Given the description of an element on the screen output the (x, y) to click on. 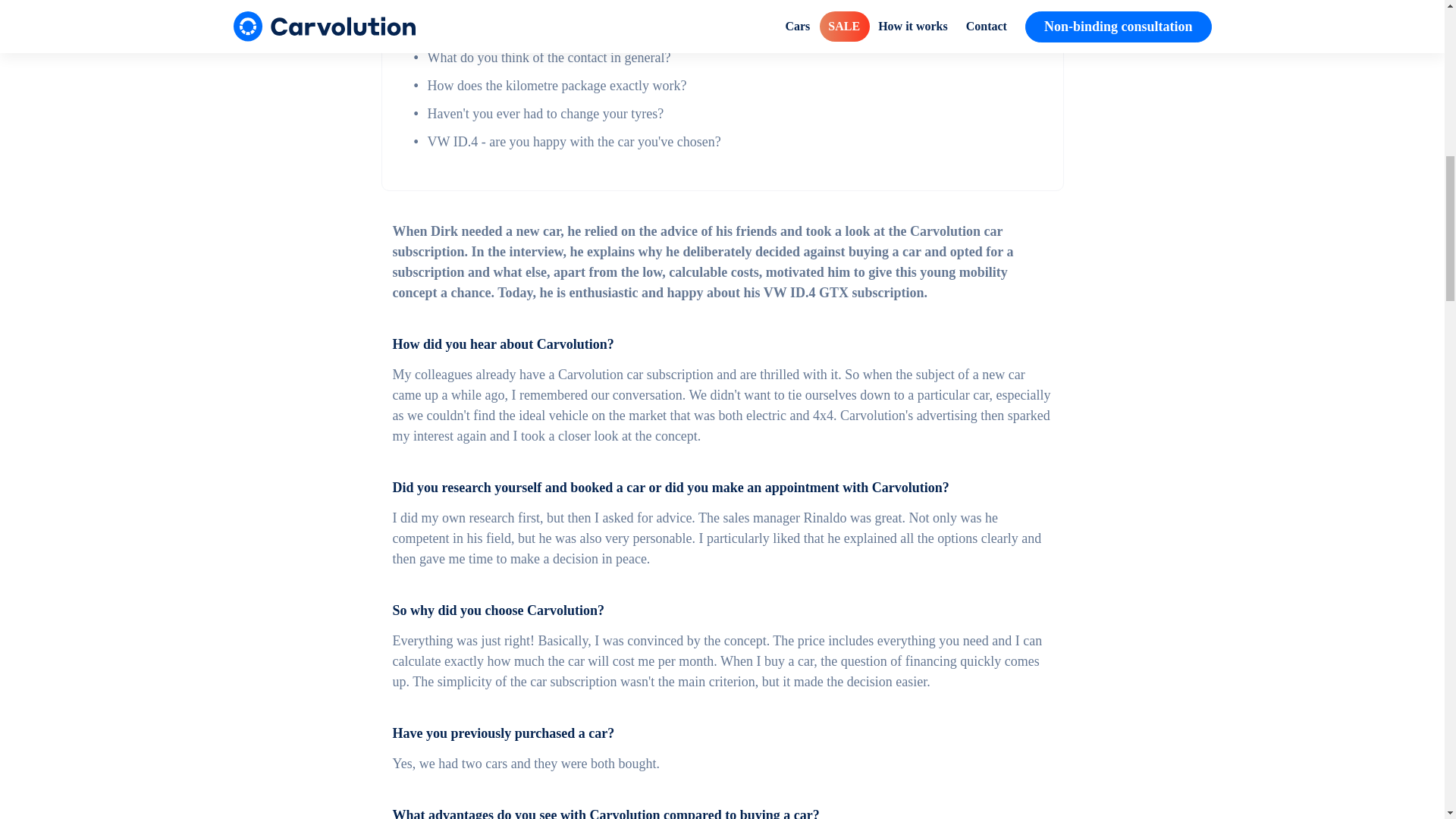
How does the kilometre package exactly work? (557, 85)
VW ID.4 - are you happy with the car you've chosen? (574, 141)
Haven't you ever had to change your tyres? (545, 113)
What do you think of the contact in general? (549, 57)
